Given the description of an element on the screen output the (x, y) to click on. 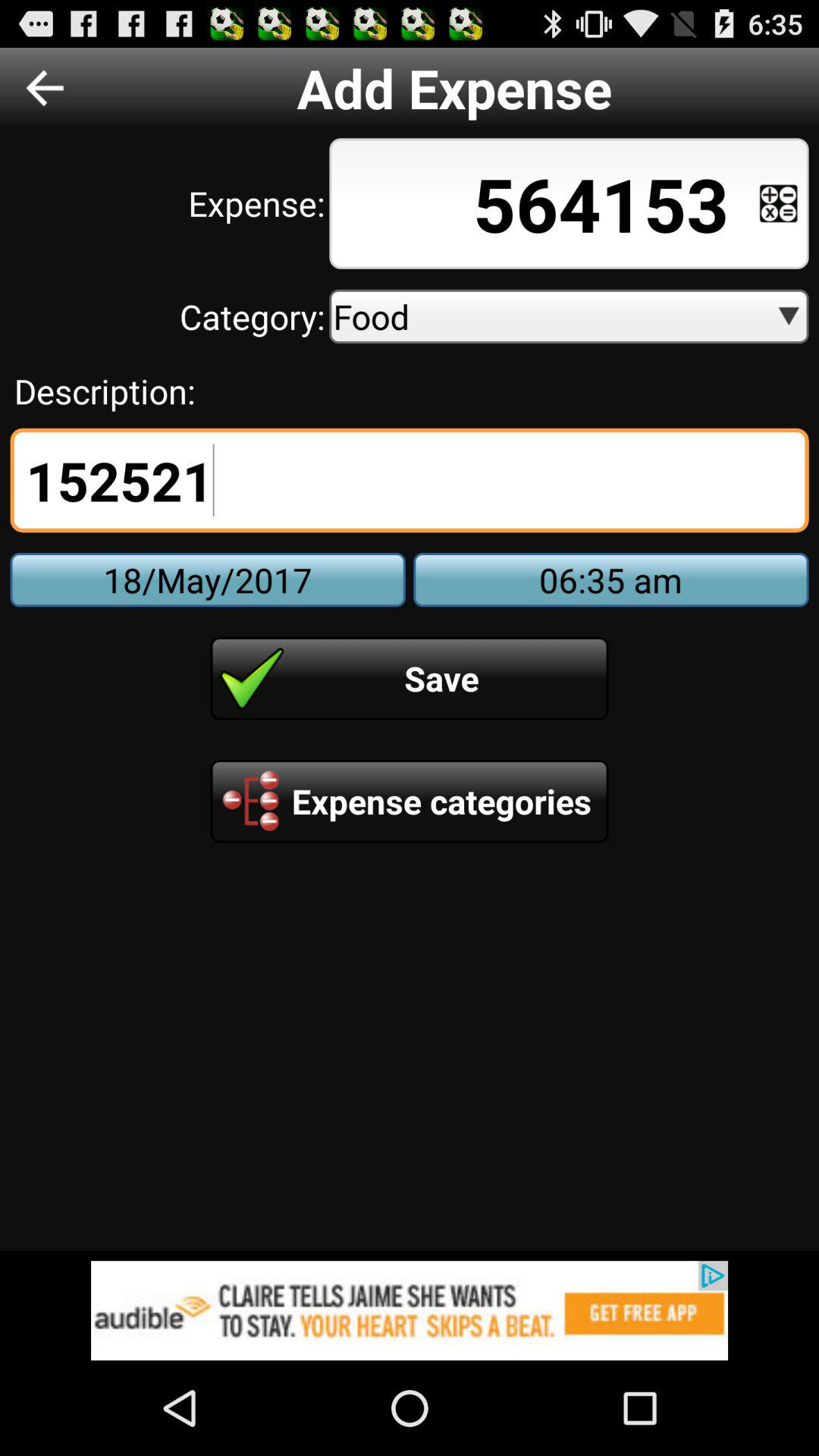
go to back button (44, 87)
